Given the description of an element on the screen output the (x, y) to click on. 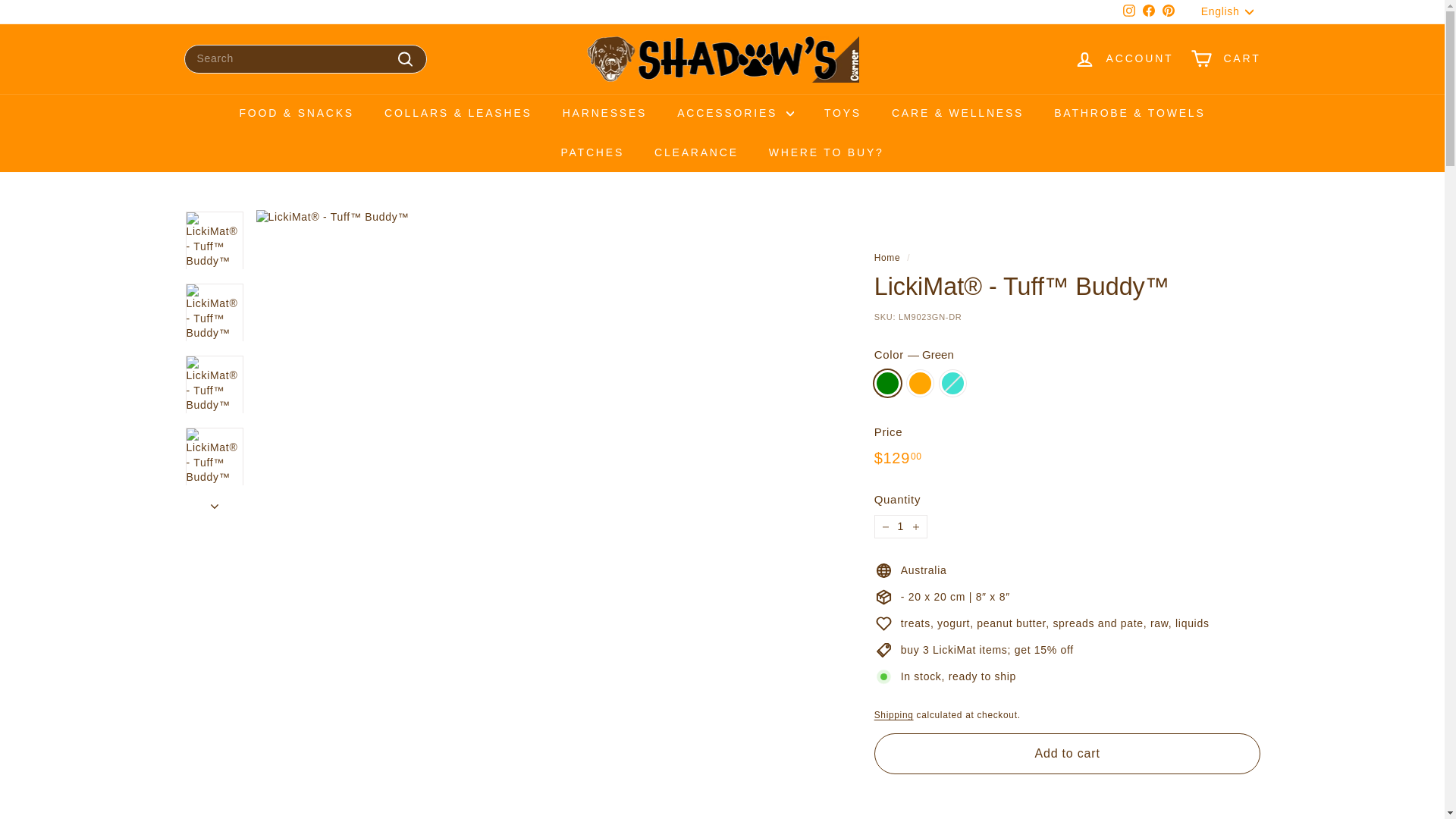
ACCOUNT (1123, 58)
CLEARANCE (696, 152)
Shadow's Corner Ltd. on Instagram (1128, 11)
TOYS (842, 113)
Pinterest (1128, 11)
Green (1167, 11)
Shadow's Corner Ltd. on Pinterest (1148, 11)
Turquoise (1167, 11)
CART (604, 113)
1 (1225, 58)
English (901, 526)
PATCHES (1230, 11)
